Given the description of an element on the screen output the (x, y) to click on. 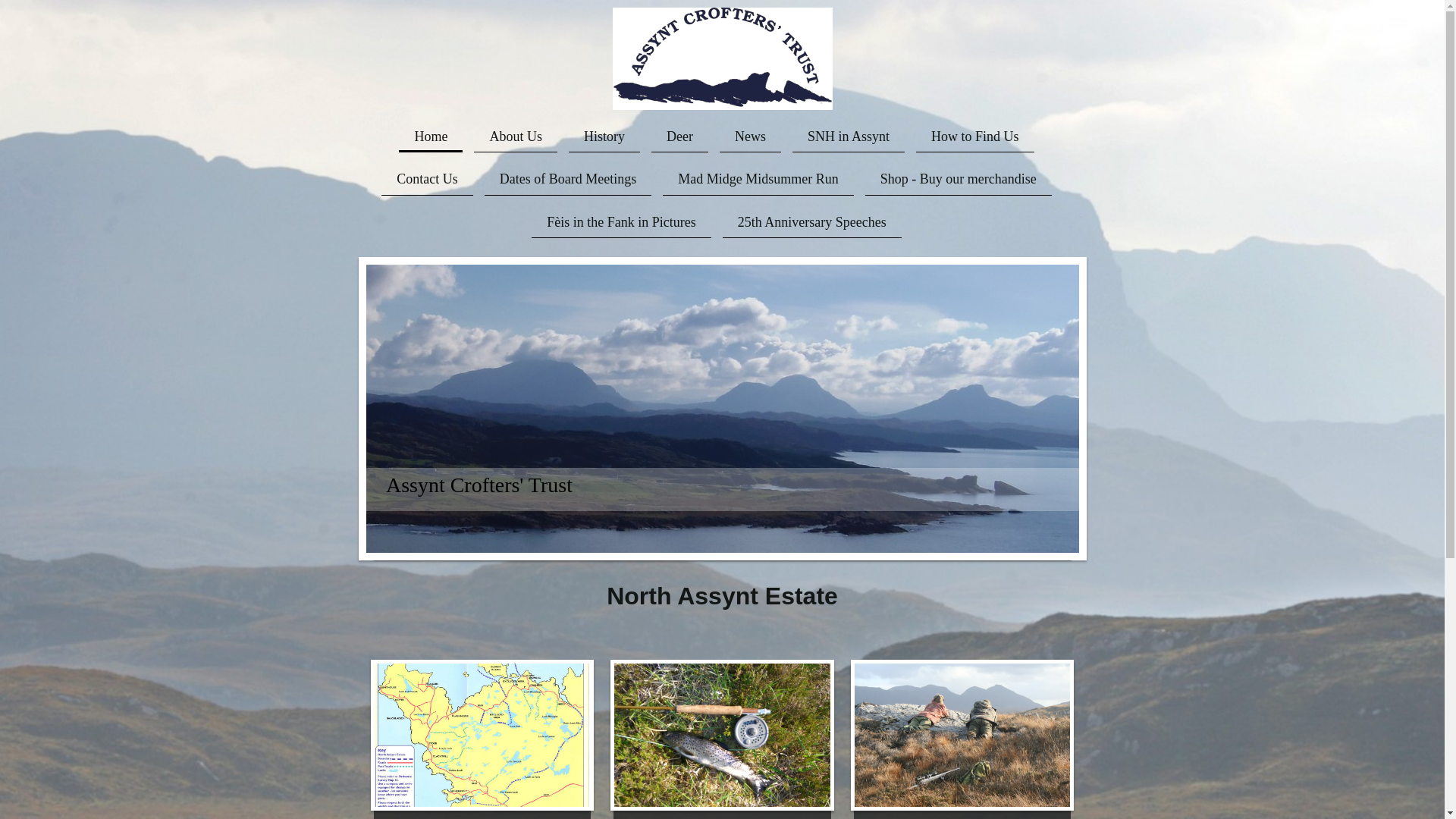
Deer (678, 136)
News (749, 136)
About Us (515, 136)
How to Find Us (974, 136)
Assynt Crofters' Trust (478, 484)
History (604, 136)
Home (430, 136)
Shop - Buy our merchandise (957, 178)
SNH in Assynt (848, 136)
Dates of Board Meetings (567, 178)
Mad Midge Midsummer Run (757, 178)
25th Anniversary Speeches (811, 222)
Contact Us (427, 178)
